Given the description of an element on the screen output the (x, y) to click on. 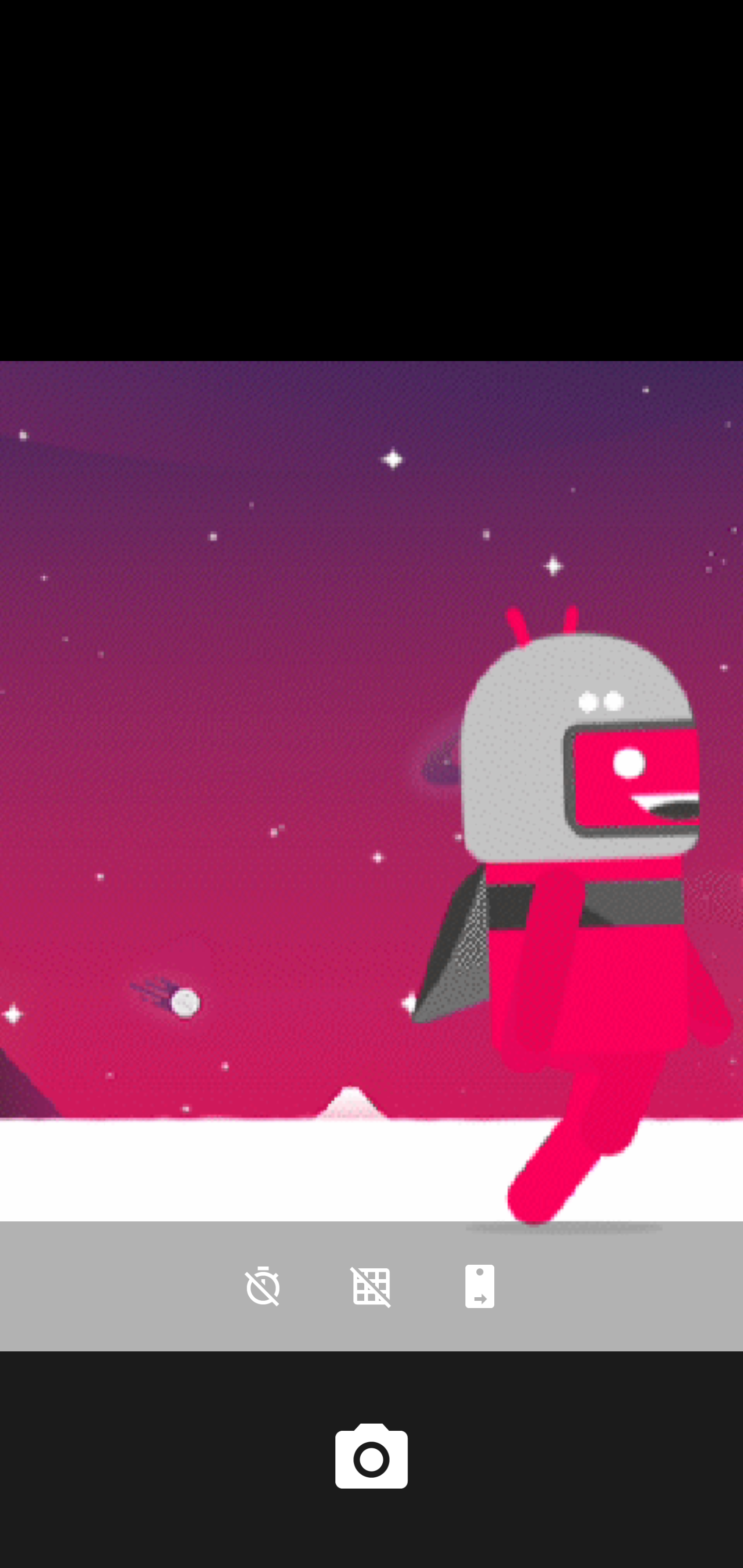
Countdown timer is off Grid lines off Back camera (371, 1286)
Countdown timer is off (262, 1286)
Grid lines off (371, 1286)
Back camera (479, 1286)
Shutter (371, 1459)
